Given the description of an element on the screen output the (x, y) to click on. 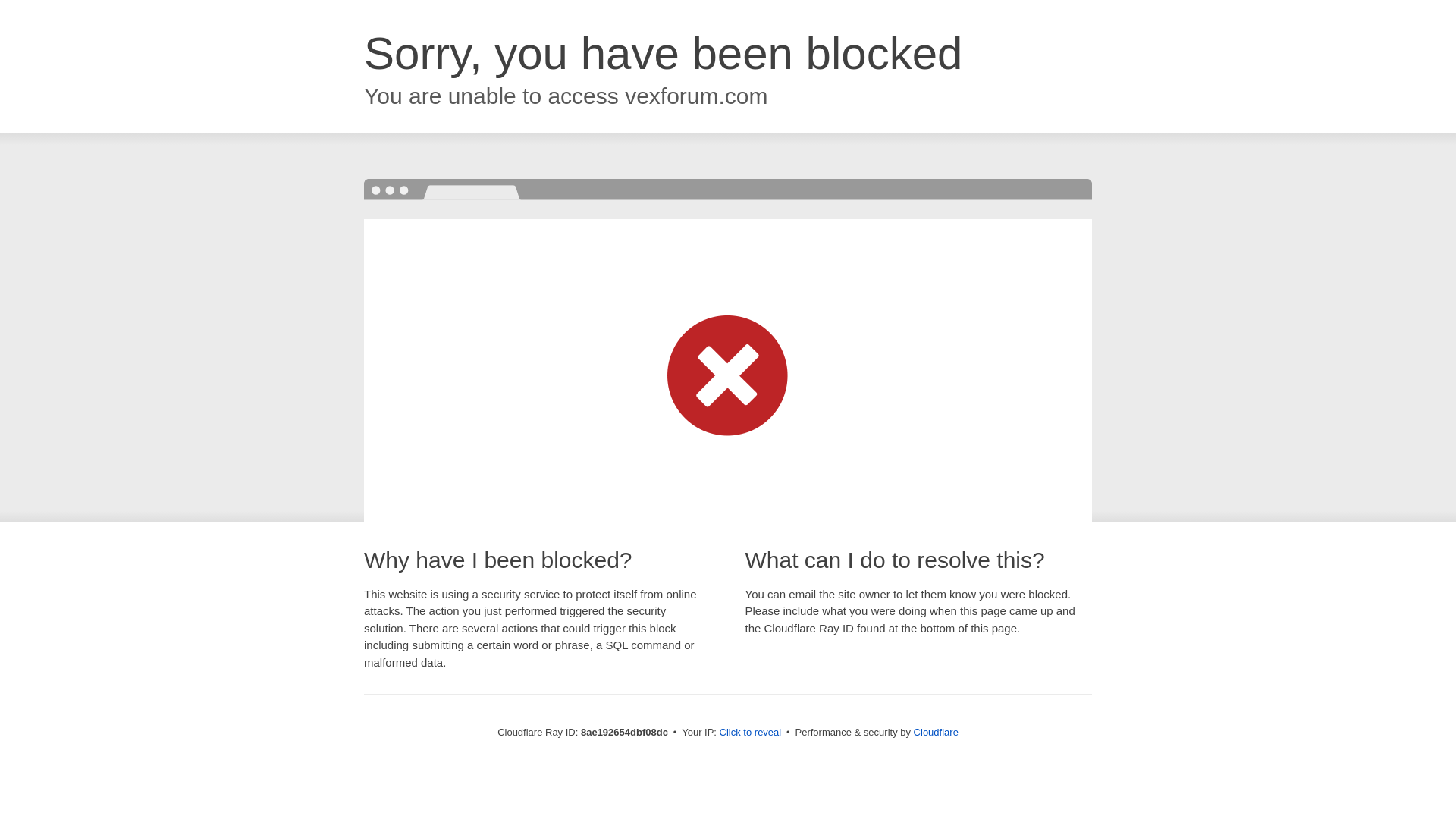
Click to reveal (750, 732)
Cloudflare (936, 731)
